Given the description of an element on the screen output the (x, y) to click on. 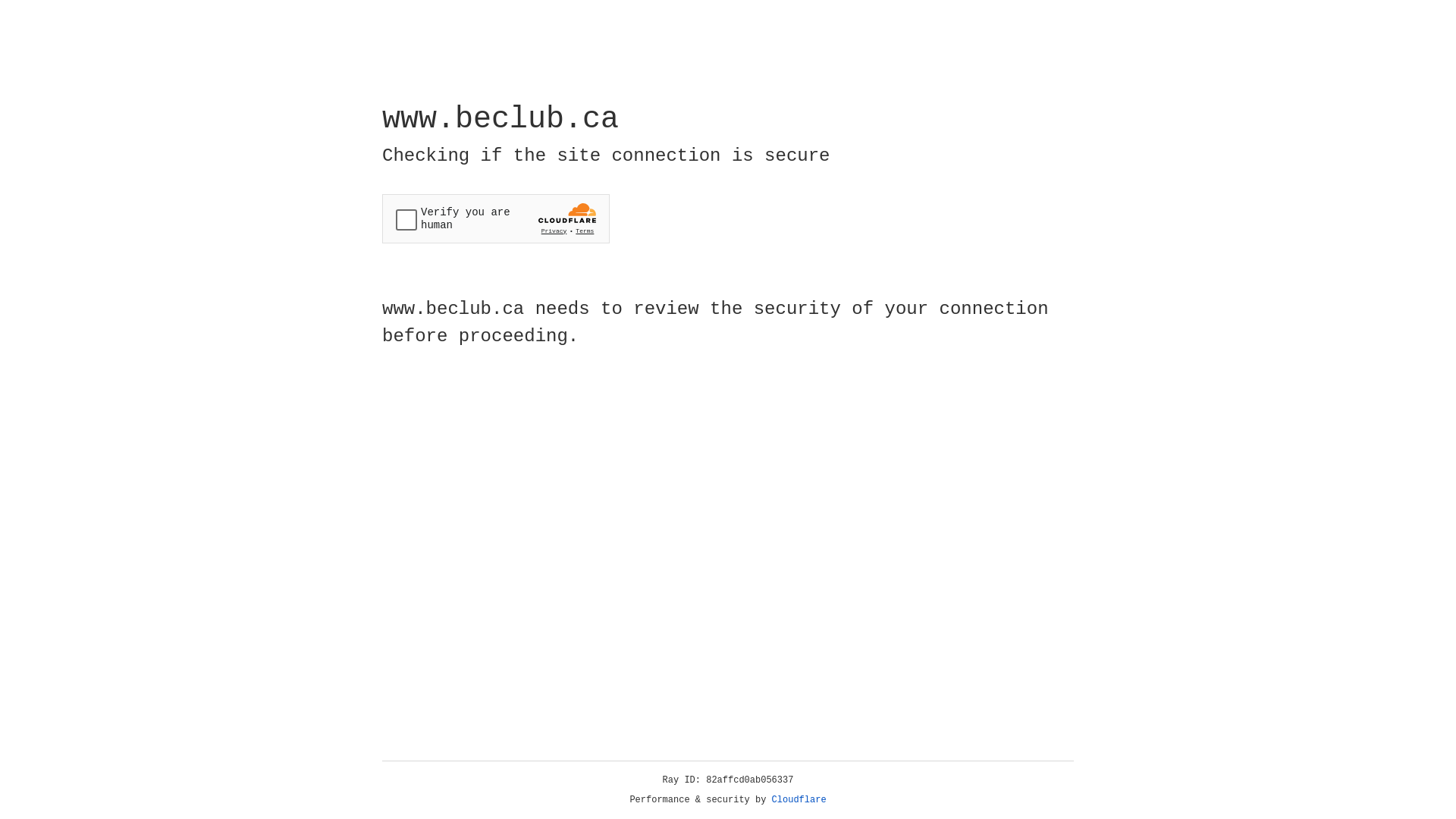
Widget containing a Cloudflare security challenge Element type: hover (495, 218)
Cloudflare Element type: text (798, 799)
